Given the description of an element on the screen output the (x, y) to click on. 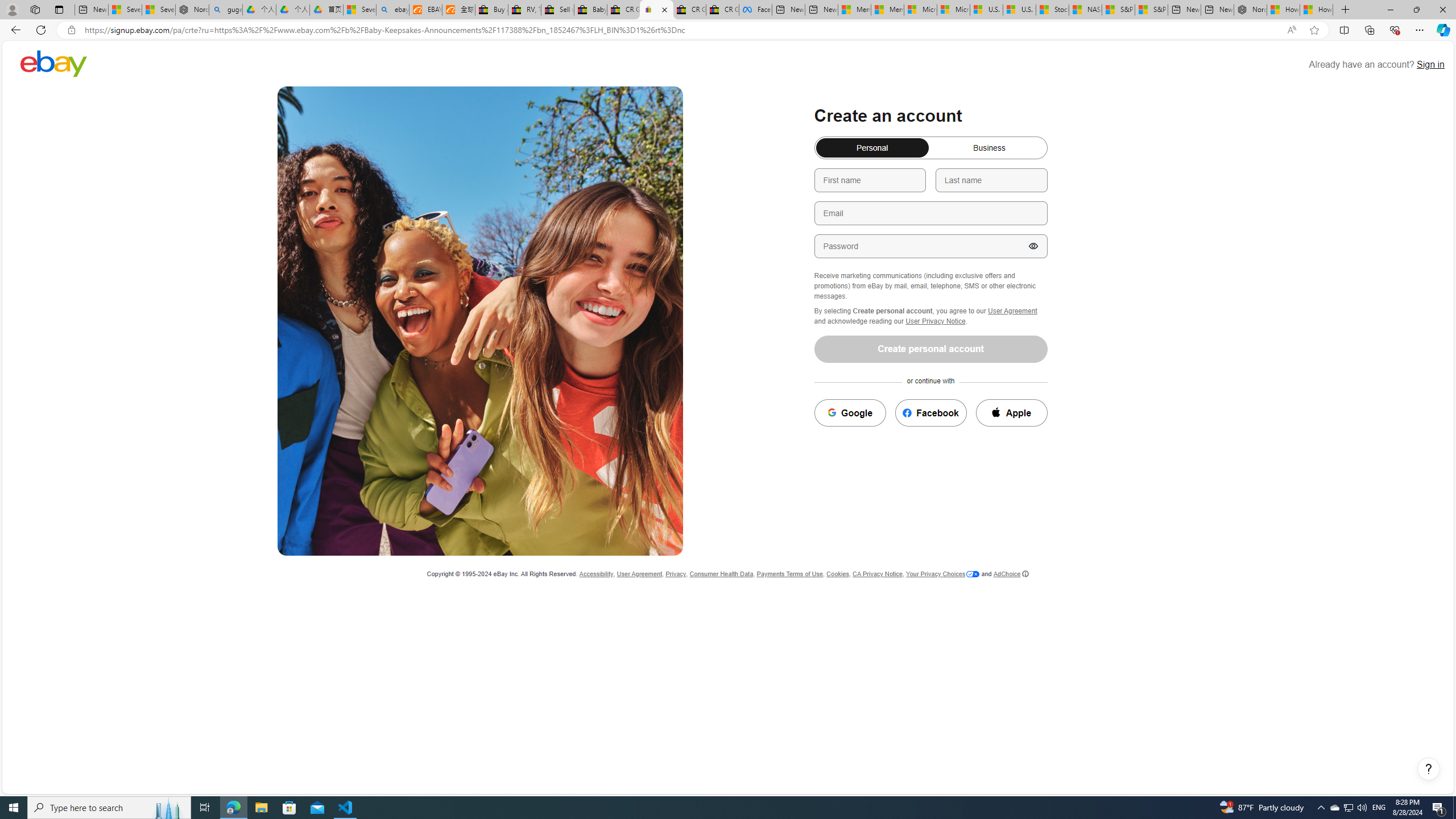
Consumer Health Data (721, 573)
Personal (821, 143)
AdChoice (1010, 574)
eBay Home (53, 62)
Payments Terms of Use (789, 573)
